Given the description of an element on the screen output the (x, y) to click on. 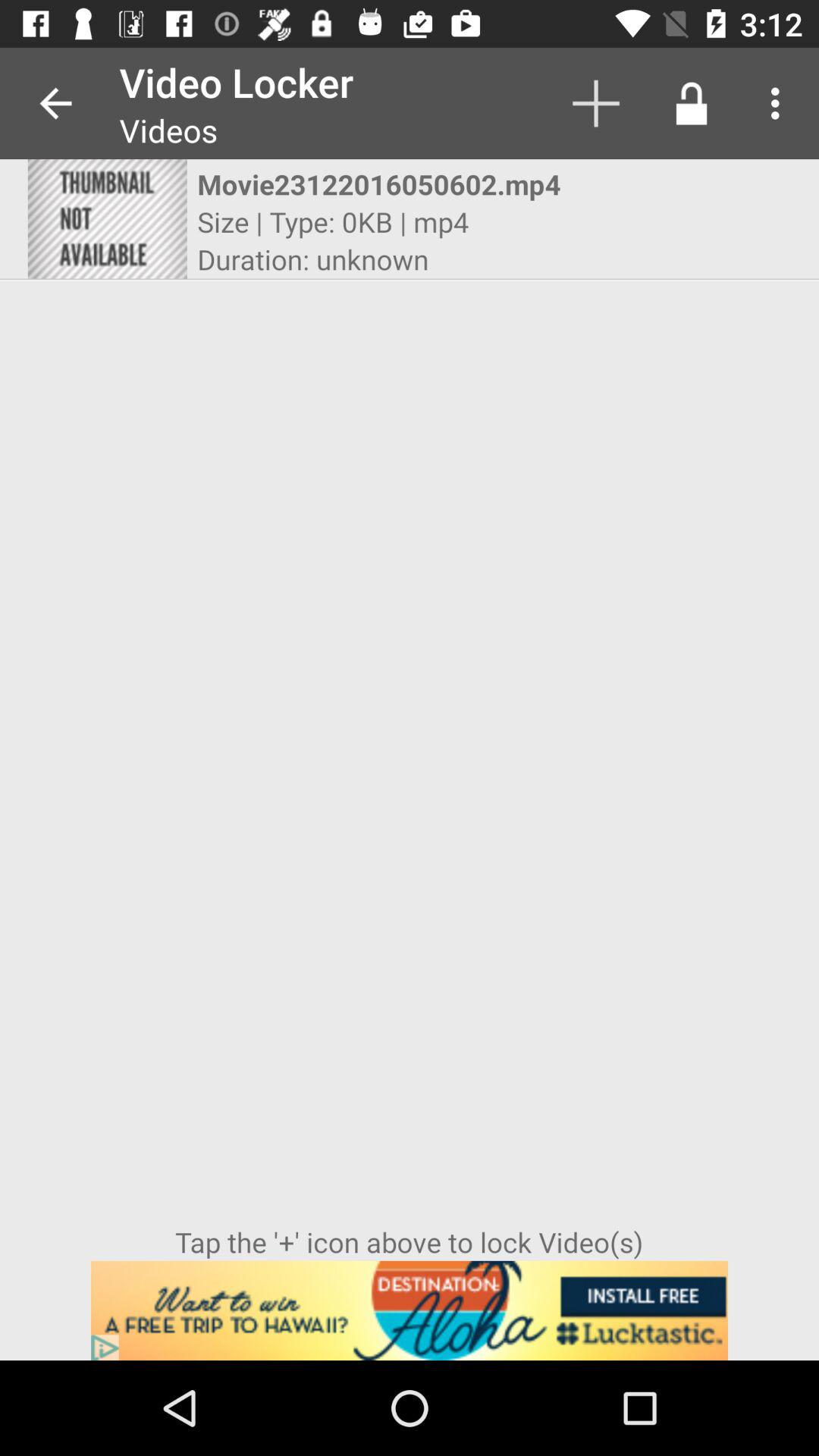
tap the icon below movie23122016050602.mp4 icon (333, 221)
